Given the description of an element on the screen output the (x, y) to click on. 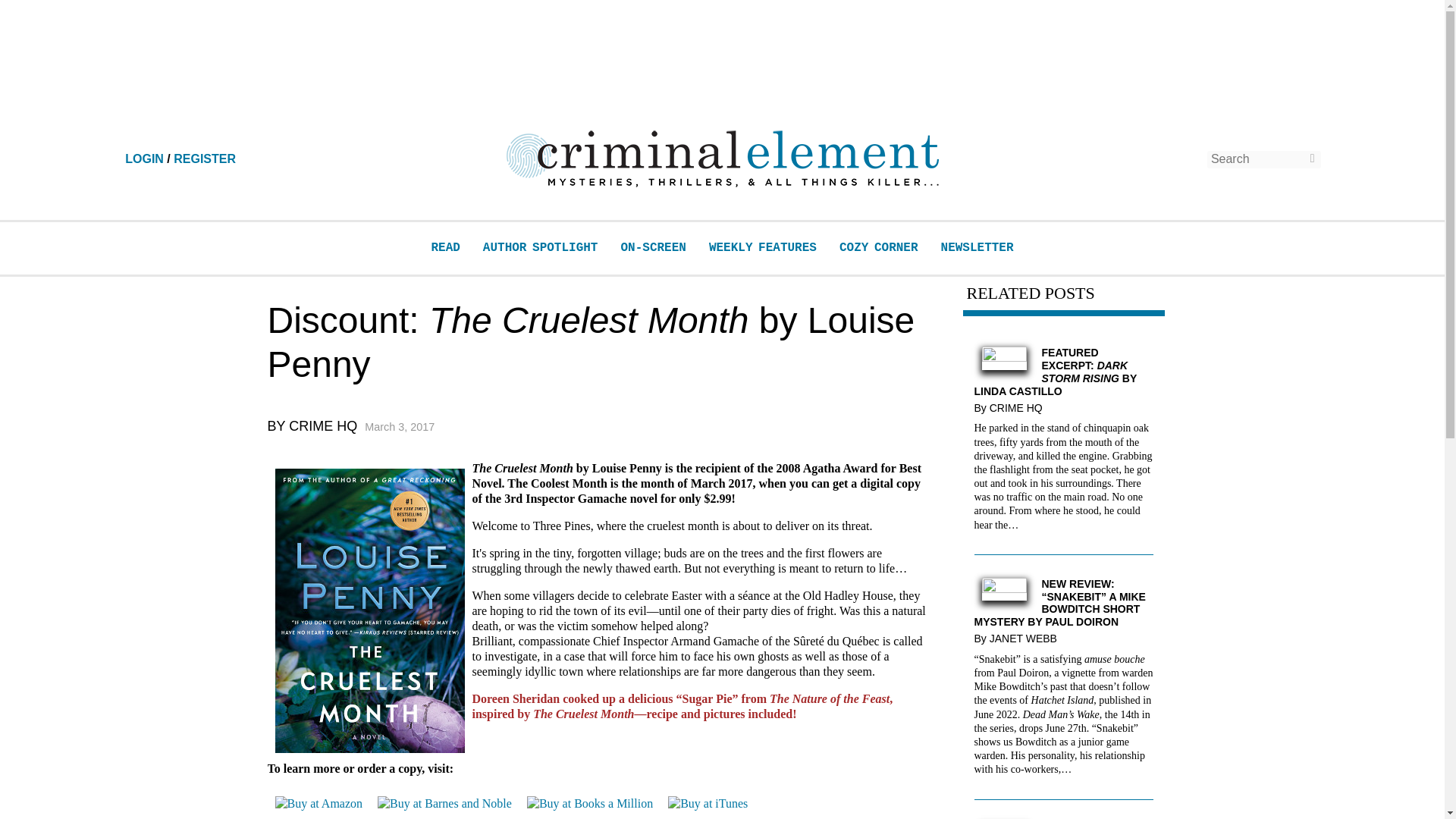
Buy at iTunes (708, 803)
CRIME HQ (1019, 408)
Crime HQ (322, 426)
Buy at Barnes and Noble (444, 803)
ON-SCREEN (652, 247)
REGISTER (204, 158)
LOGIN (144, 158)
Buy at Amazon (317, 803)
Buy at Books a Million (590, 803)
AUTHOR SPOTLIGHT (540, 247)
